Given the description of an element on the screen output the (x, y) to click on. 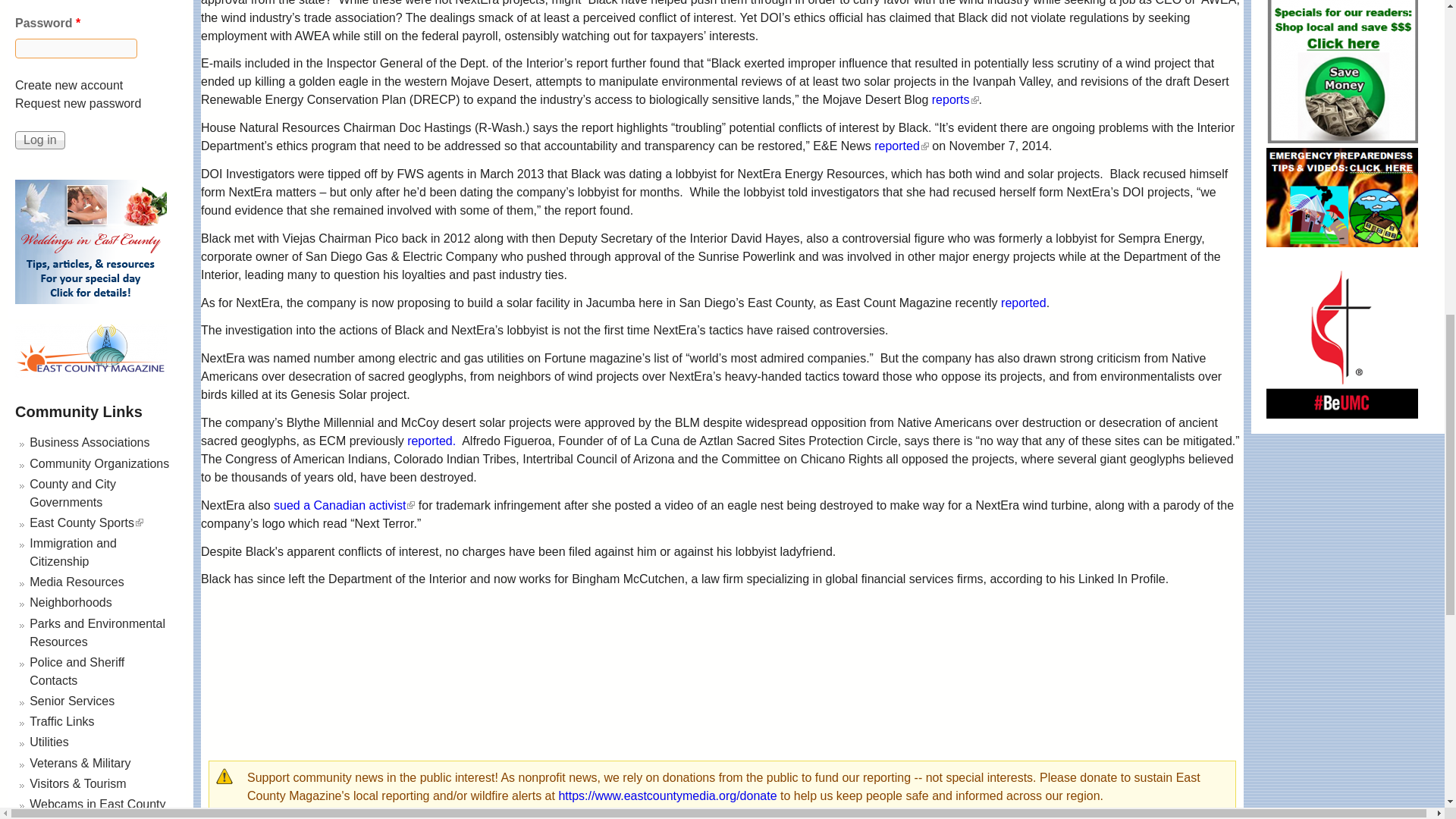
Log in (39, 140)
